Given the description of an element on the screen output the (x, y) to click on. 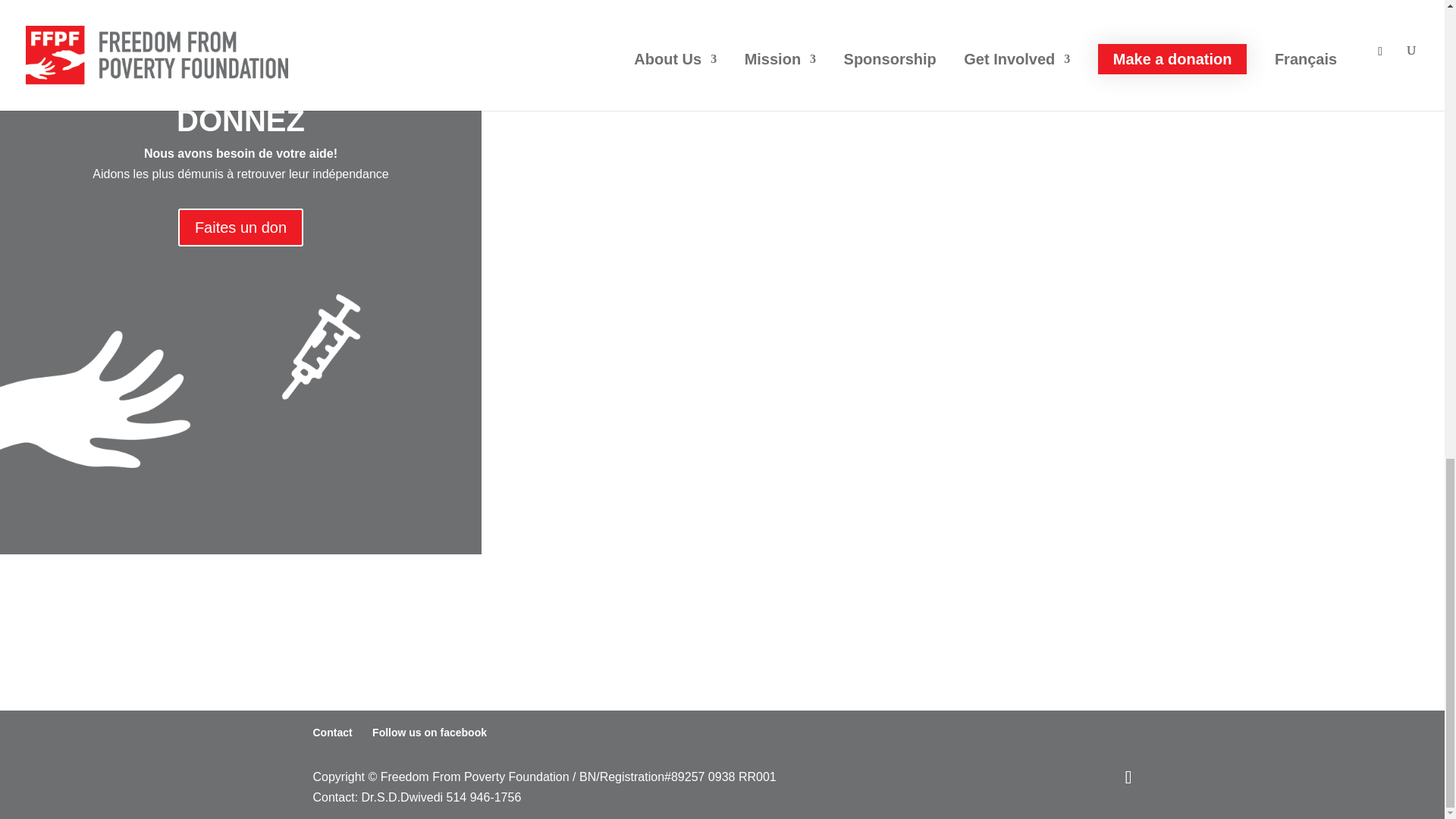
Follow us on facebook (429, 732)
Faites un don (239, 227)
Contact (332, 732)
